Given the description of an element on the screen output the (x, y) to click on. 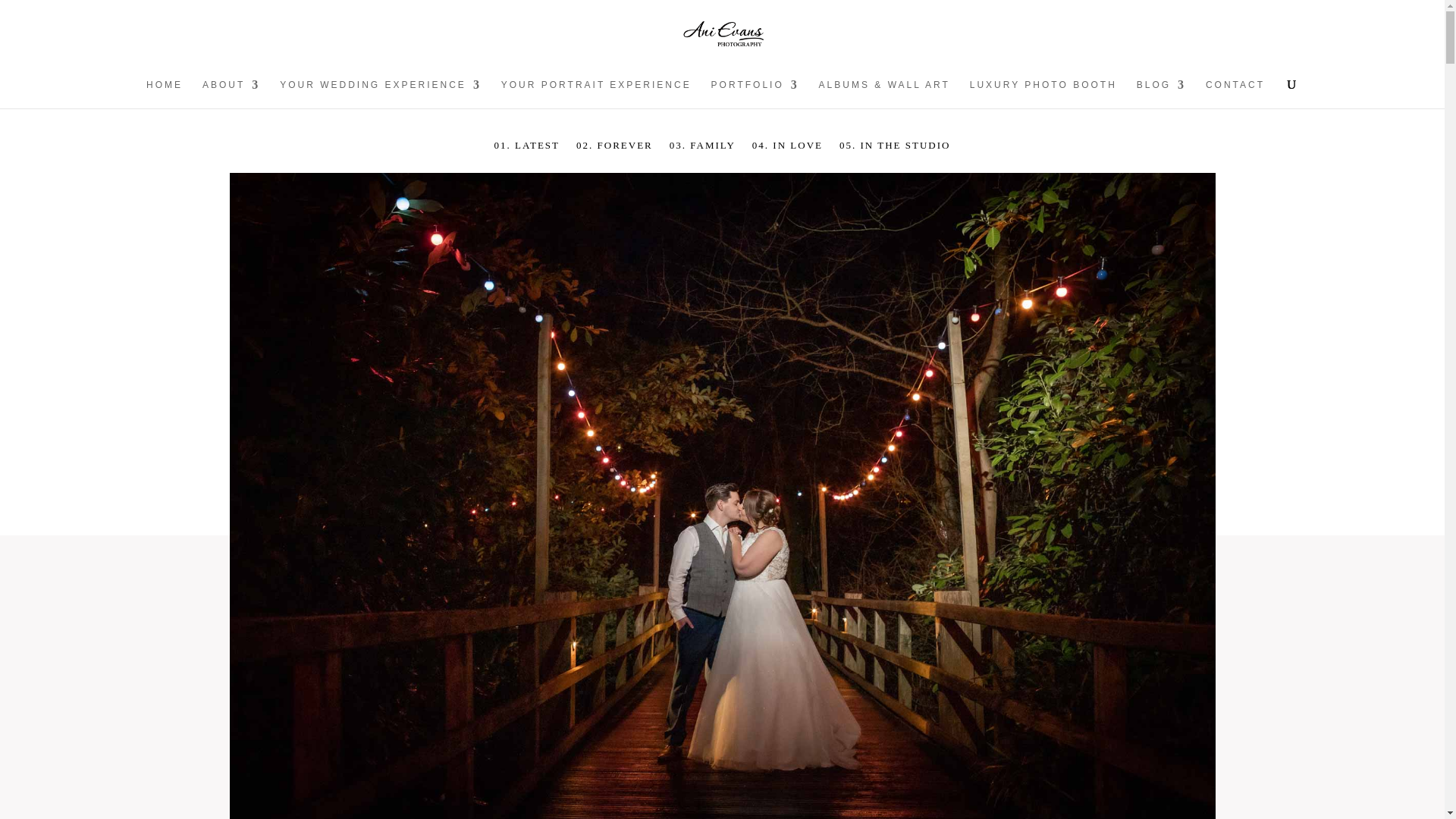
LUXURY PHOTO BOOTH (1042, 93)
CONTACT (1235, 93)
03. FAMILY (702, 156)
02. FOREVER (614, 156)
01. LATEST (527, 156)
YOUR WEDDING EXPERIENCE (380, 93)
PORTFOLIO (755, 93)
BLOG (1161, 93)
04. IN LOVE (787, 156)
